Given the description of an element on the screen output the (x, y) to click on. 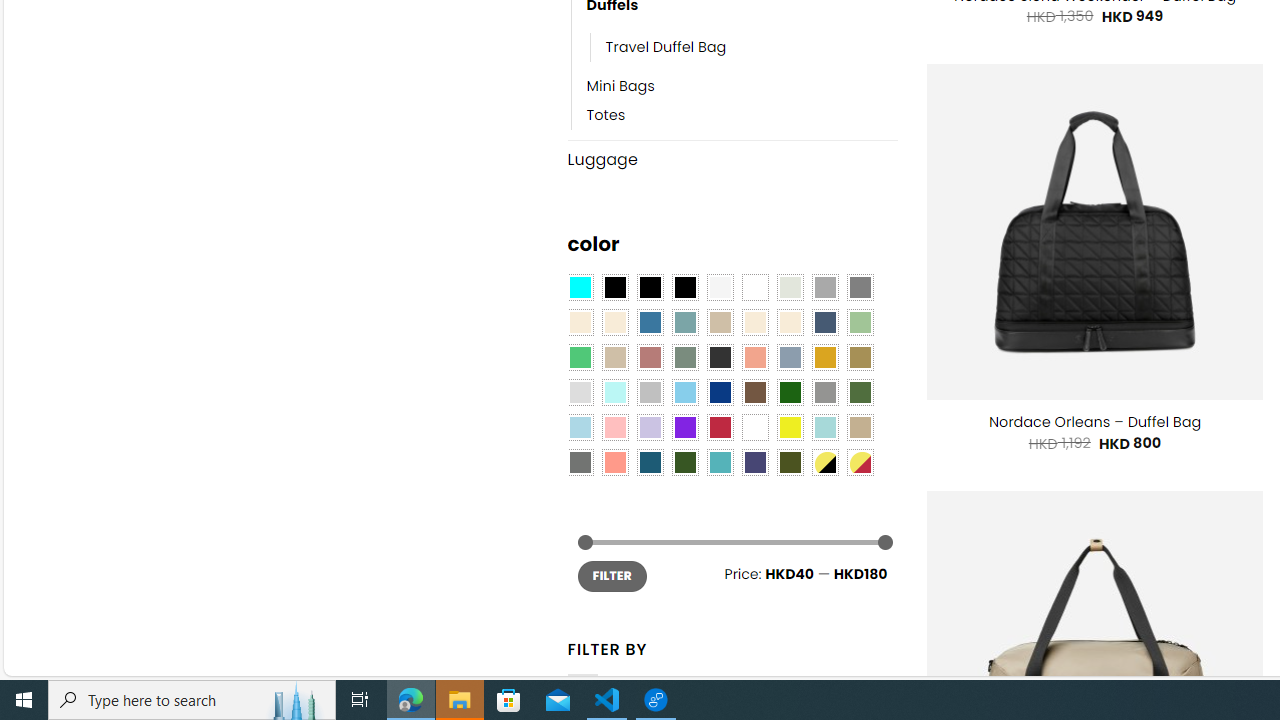
Black (650, 287)
Silver (650, 393)
Capri Blue (650, 462)
Dusty Blue (789, 357)
Pink (614, 427)
Peach Pink (614, 462)
Brown (755, 393)
Clear (755, 287)
Pearly White (719, 287)
Travel Duffel Bag (666, 48)
Aqua (824, 427)
Hale Navy (824, 323)
Dull Nickle (579, 462)
Yellow-Black (824, 462)
Light Gray (579, 393)
